Given the description of an element on the screen output the (x, y) to click on. 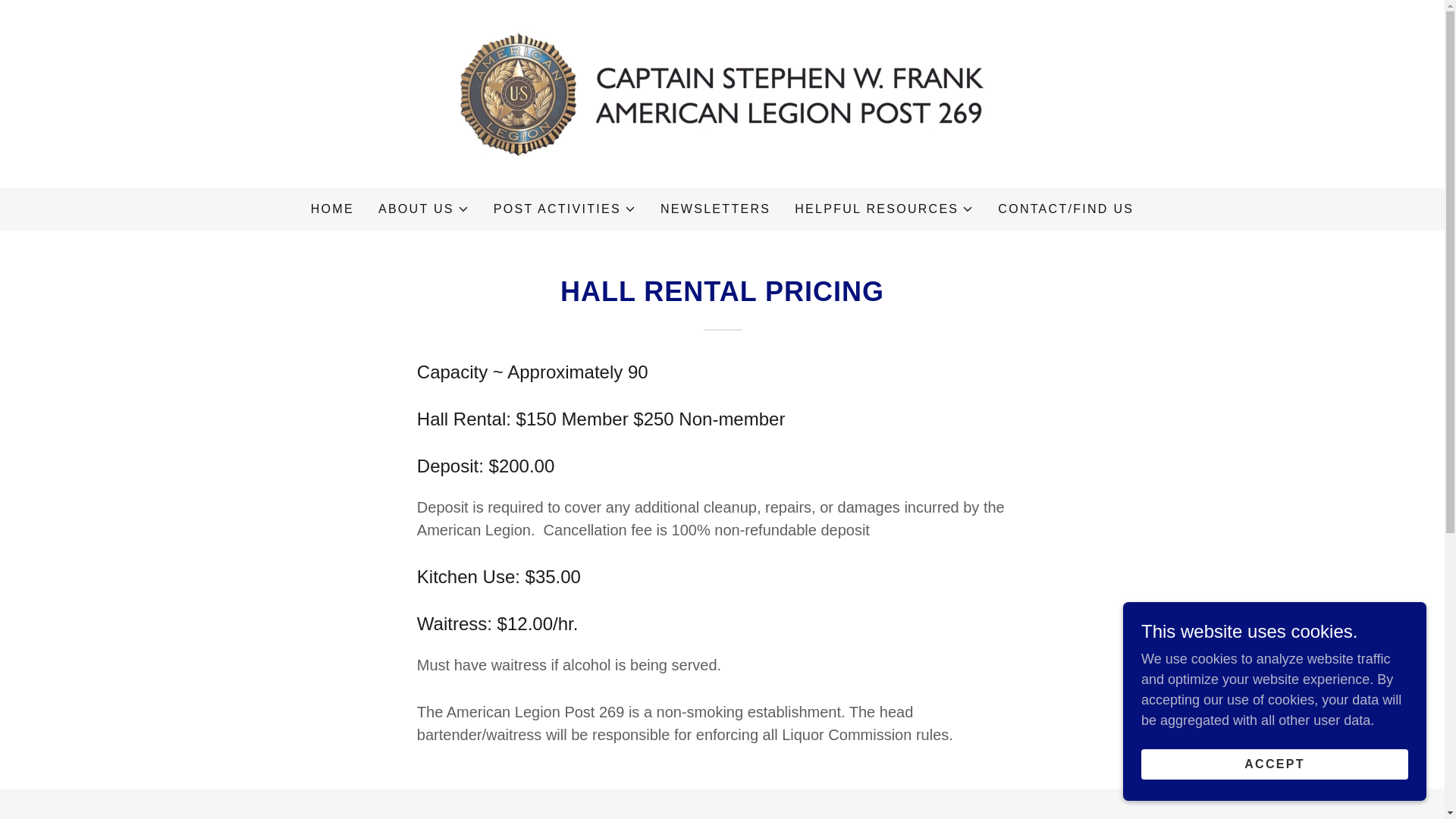
NEWSLETTERS (715, 208)
HOME (331, 208)
HELPFUL RESOURCES (722, 92)
ABOUT US (884, 208)
POST ACTIVITIES (423, 208)
